Given the description of an element on the screen output the (x, y) to click on. 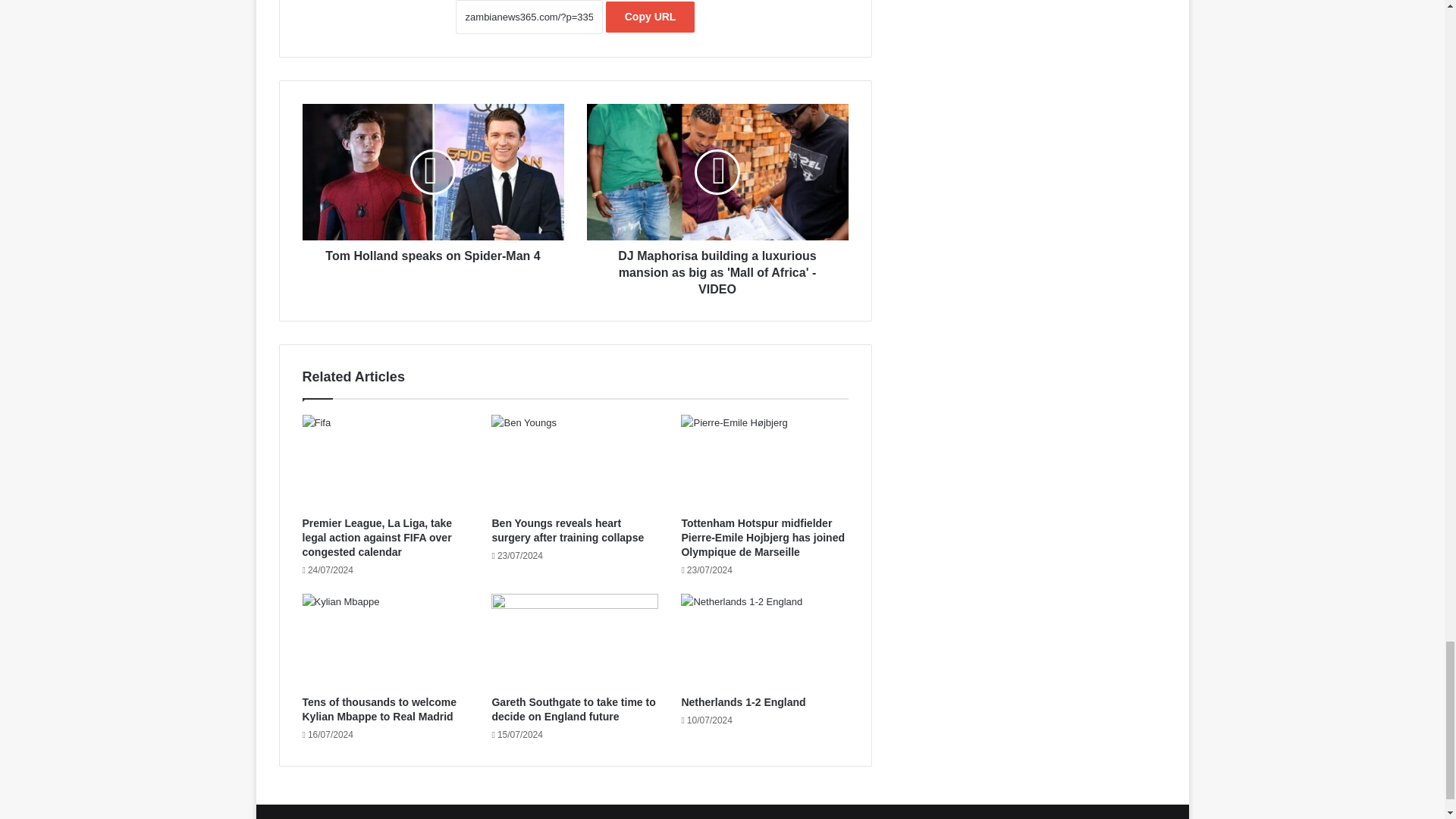
Tom Holland speaks on Spider-Man 4 (432, 172)
Tom Holland speaks on Spider-Man 4 (432, 252)
Copy URL (650, 16)
